Given the description of an element on the screen output the (x, y) to click on. 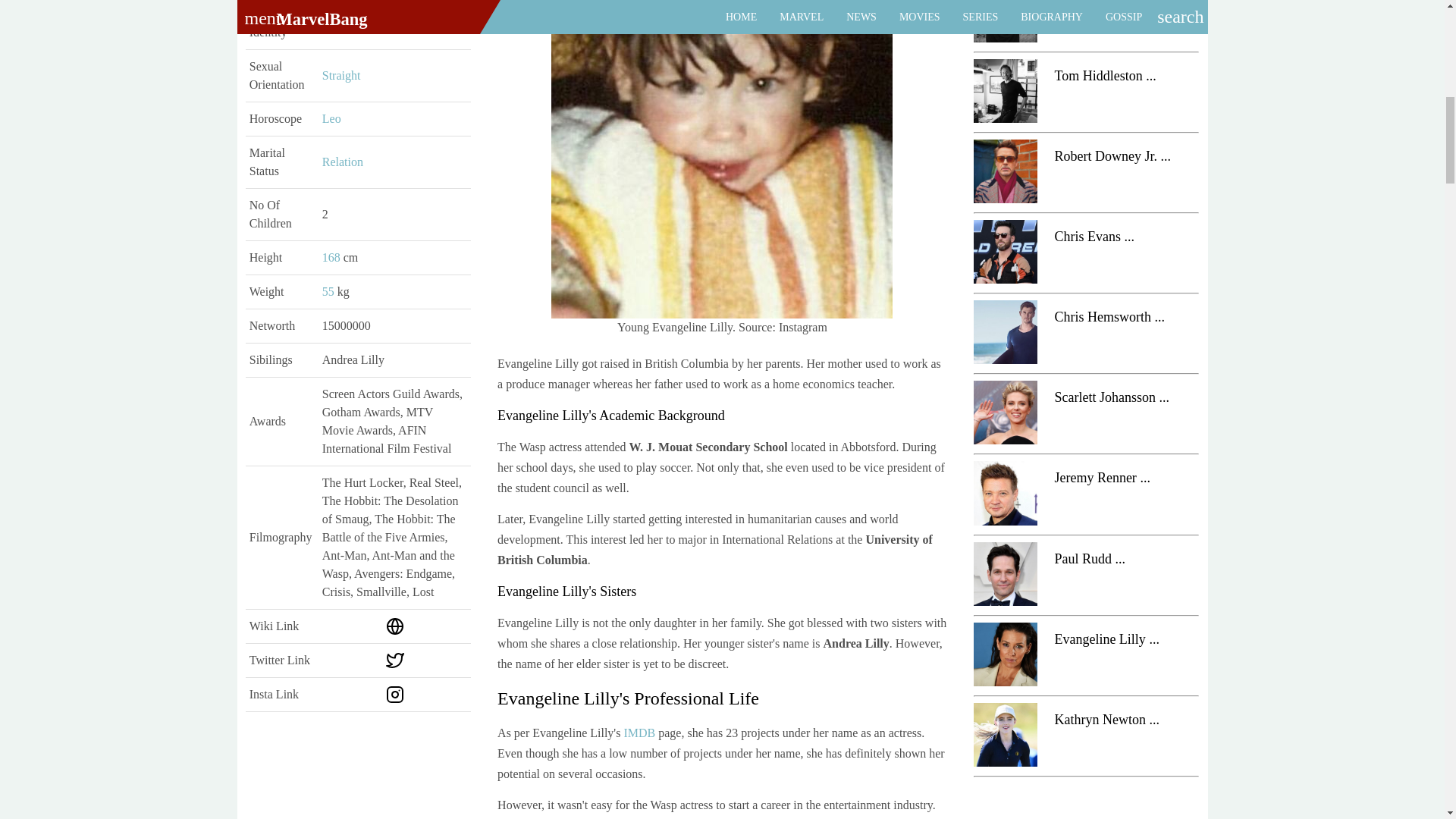
Female (339, 22)
Leo (330, 118)
55 (329, 291)
Straight (341, 74)
168 (332, 256)
Relation (341, 161)
